Given the description of an element on the screen output the (x, y) to click on. 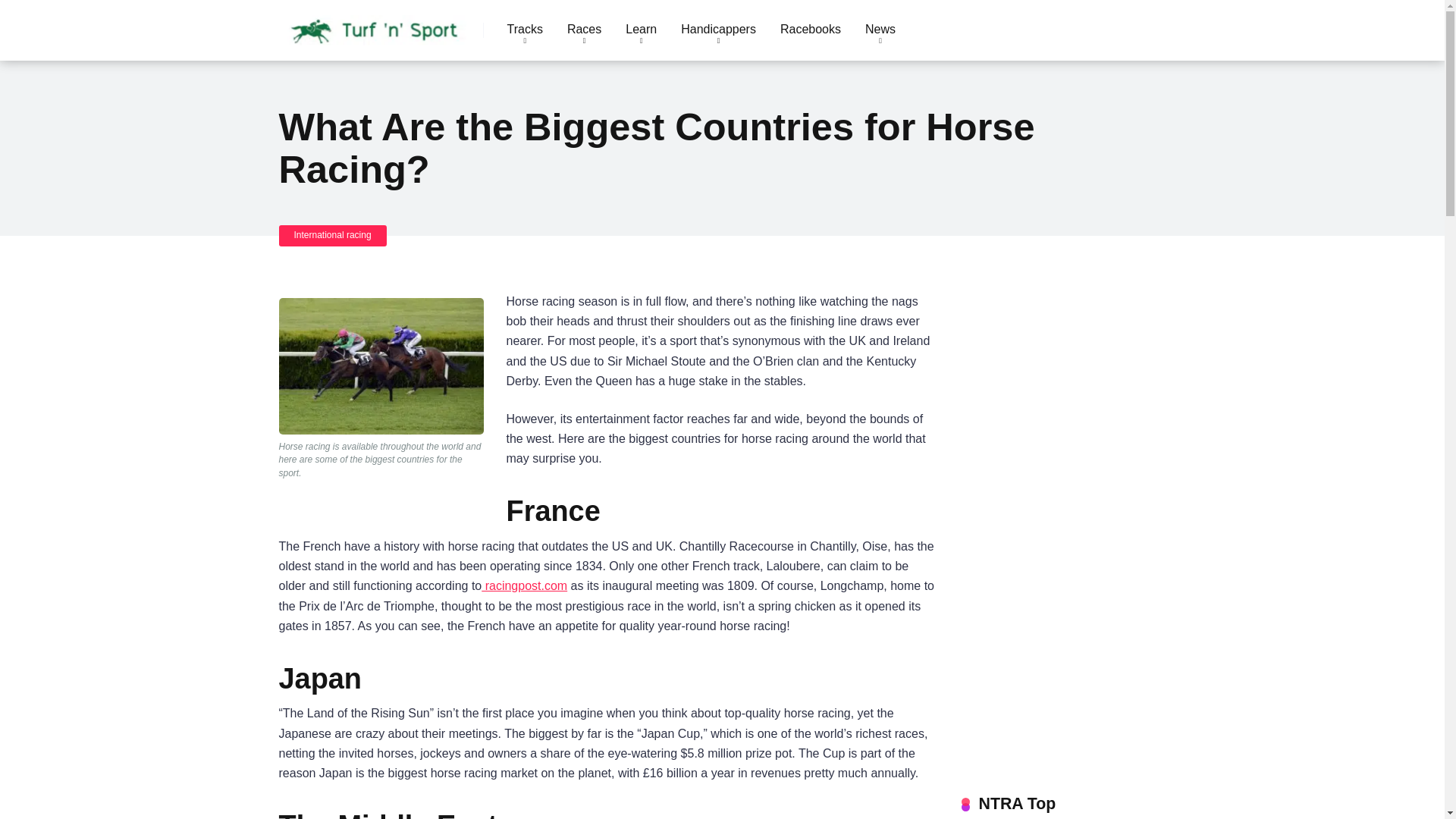
News (880, 30)
Learn (640, 30)
Expert Horse Racing Handicappers (718, 30)
Races (583, 30)
Horse Racing Reports and News - Turfnsport (375, 24)
Tracks (524, 30)
Racebooks (810, 30)
Handicappers (718, 30)
